Given the description of an element on the screen output the (x, y) to click on. 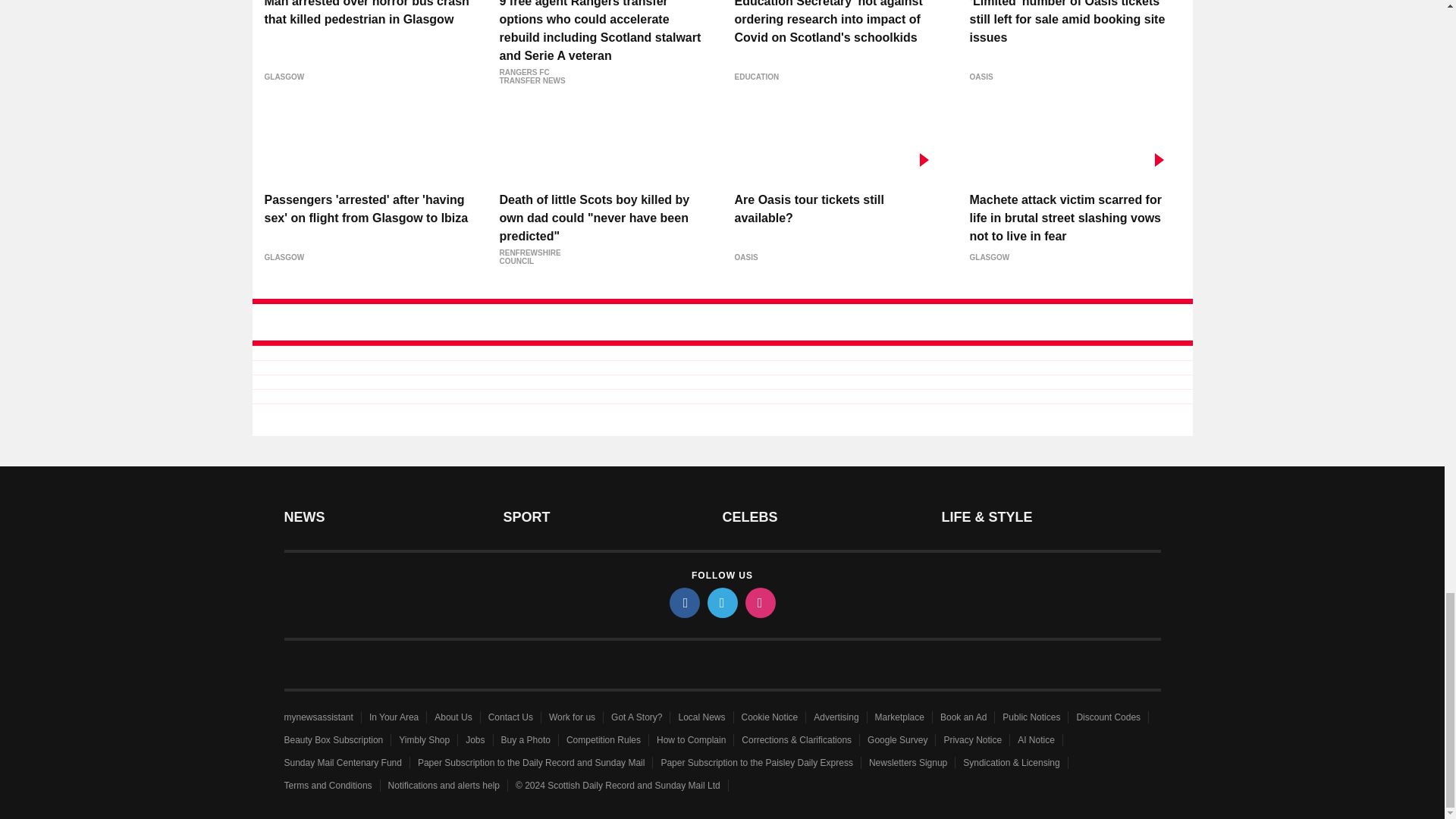
instagram (759, 603)
facebook (683, 603)
twitter (721, 603)
